Given the description of an element on the screen output the (x, y) to click on. 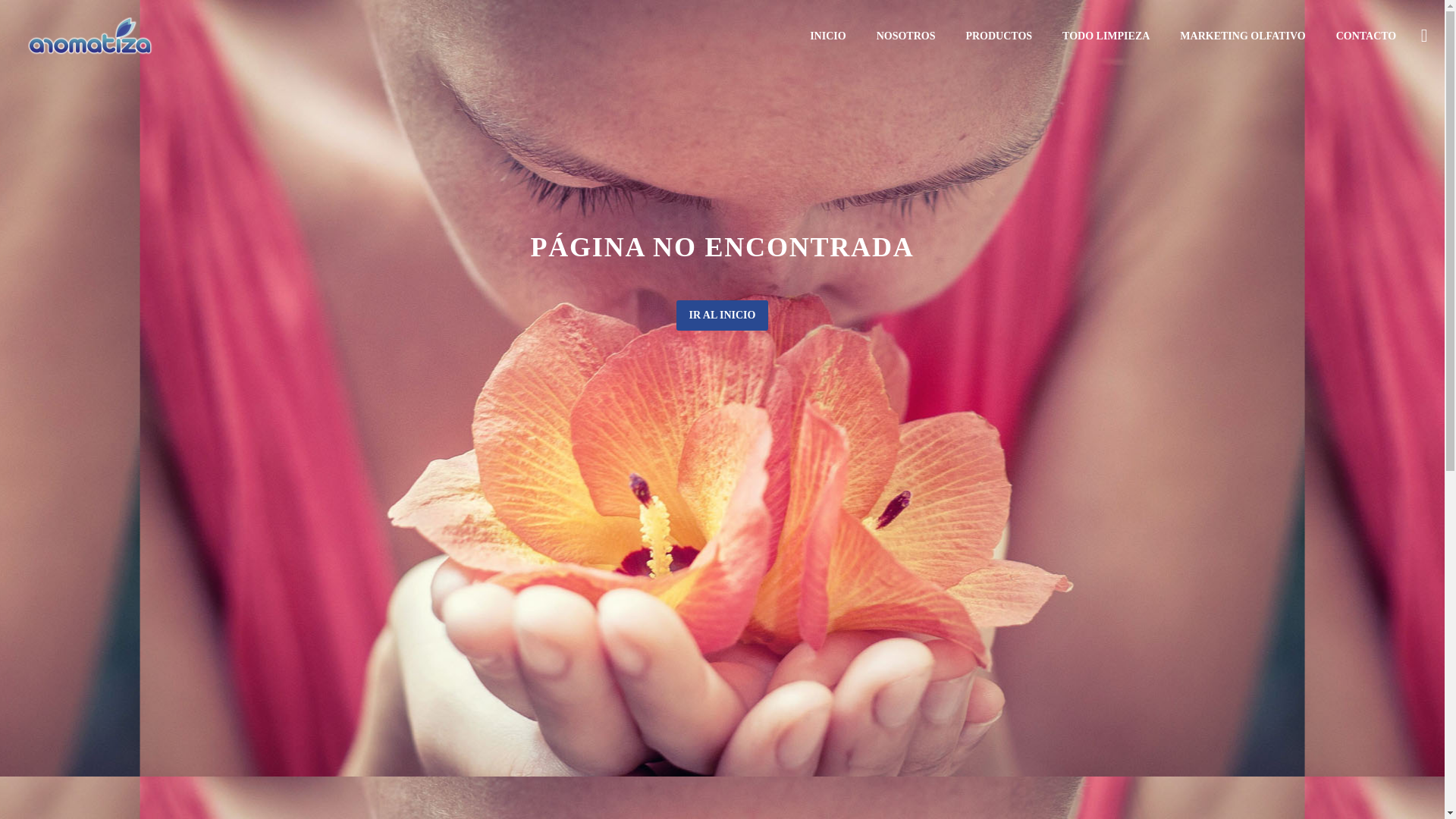
TODO LIMPIEZA (1105, 36)
CONTACTO (1366, 36)
PRODUCTOS (998, 36)
IR AL INICIO (722, 315)
NOSOTROS (905, 36)
MARKETING OLFATIVO (1242, 36)
INICIO (827, 36)
